Given the description of an element on the screen output the (x, y) to click on. 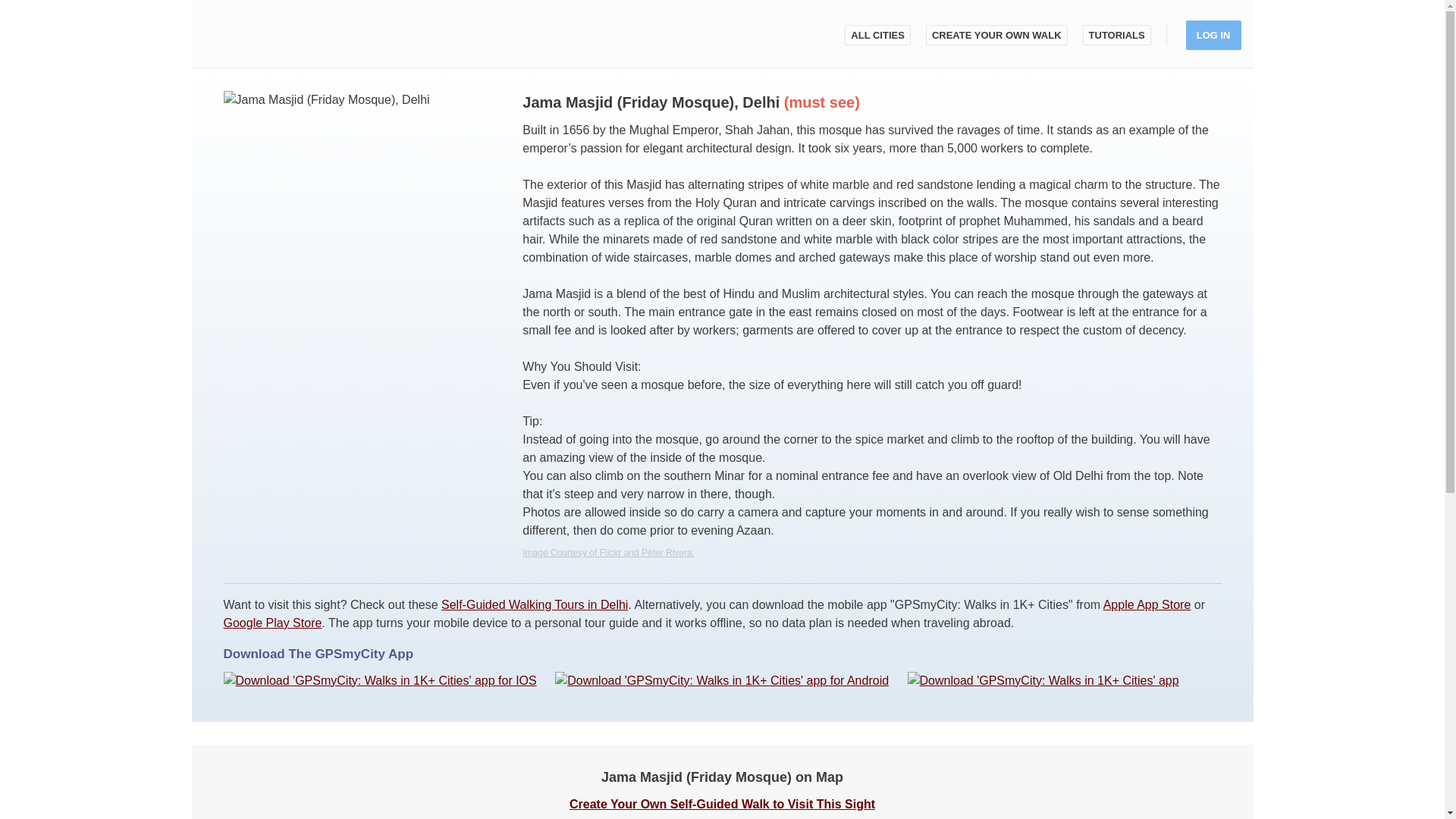
Image Courtesy of Flickr and Peter Rivera. (608, 552)
LOG IN (1213, 34)
Create Your Own Self-Guided Walk to Visit This Sight (722, 803)
Google Play Store (271, 622)
TUTORIALS (1117, 35)
GPSmyCity city walks app (287, 33)
ALL CITIES (877, 35)
Self-Guided Walking Tours in Delhi (534, 604)
Apple App Store (1147, 604)
CREATE YOUR OWN WALK (996, 35)
